Given the description of an element on the screen output the (x, y) to click on. 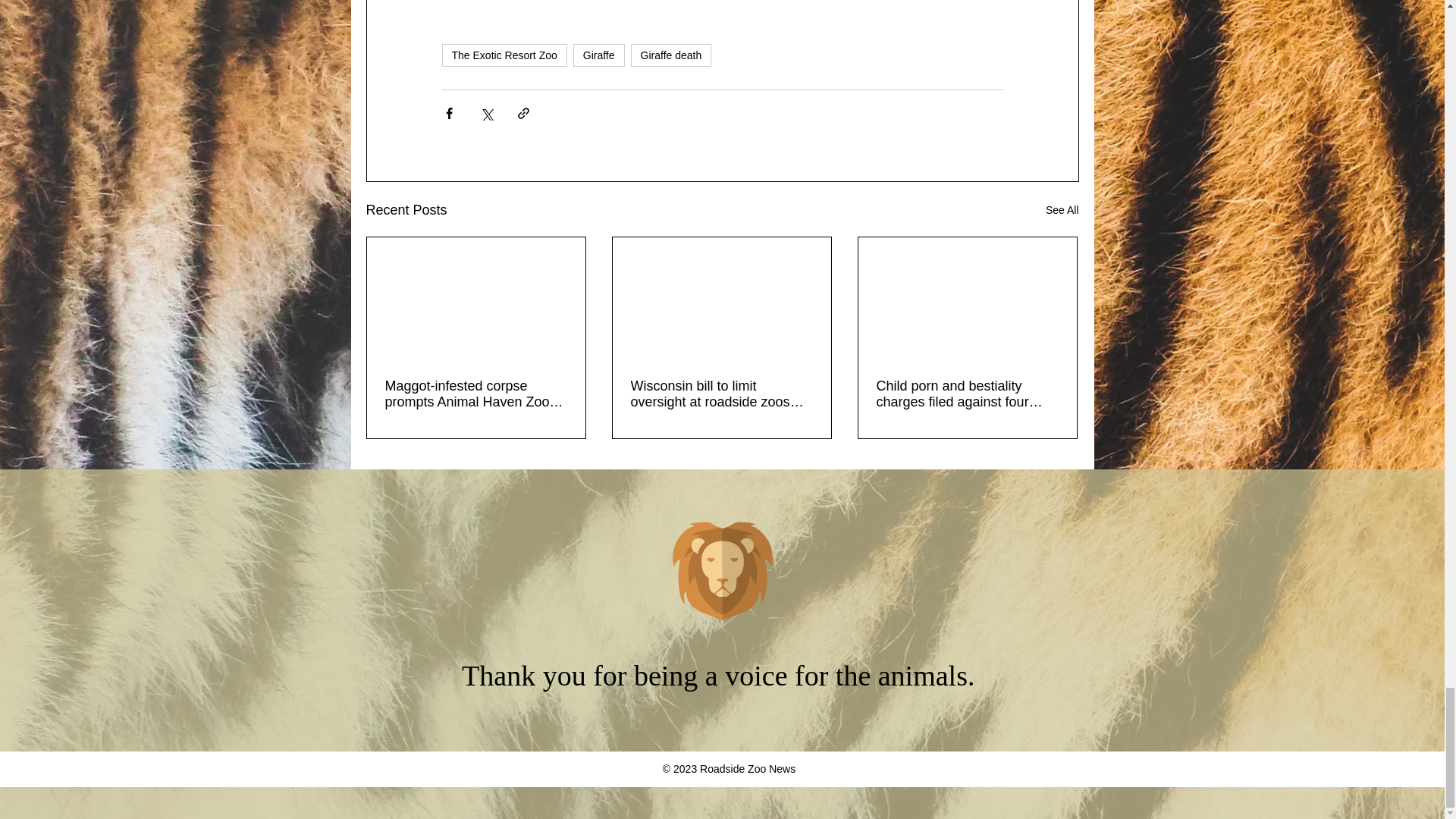
Giraffe (598, 55)
The Exotic Resort Zoo (503, 55)
See All (1061, 210)
Maggot-infested corpse prompts Animal Haven Zoo violation (476, 394)
Giraffe death (670, 55)
